Given the description of an element on the screen output the (x, y) to click on. 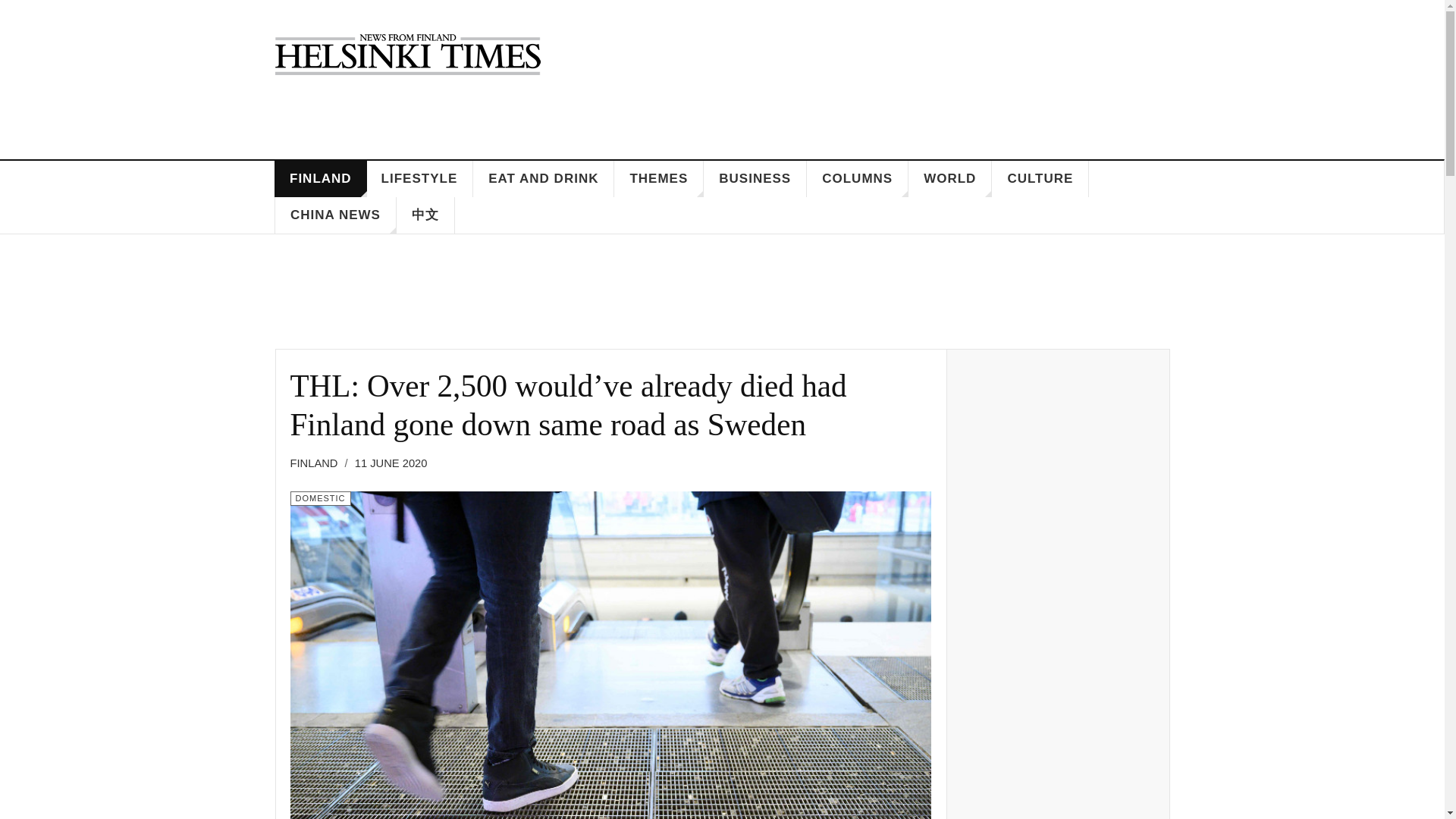
Advertisement (721, 297)
Weather Widget (908, 74)
HELSINKI FINLAND (908, 74)
Published:  (391, 463)
HelsinkiTimes (407, 54)
Parent Category:  (318, 463)
Category:  (319, 498)
FINLAND (320, 178)
